Given the description of an element on the screen output the (x, y) to click on. 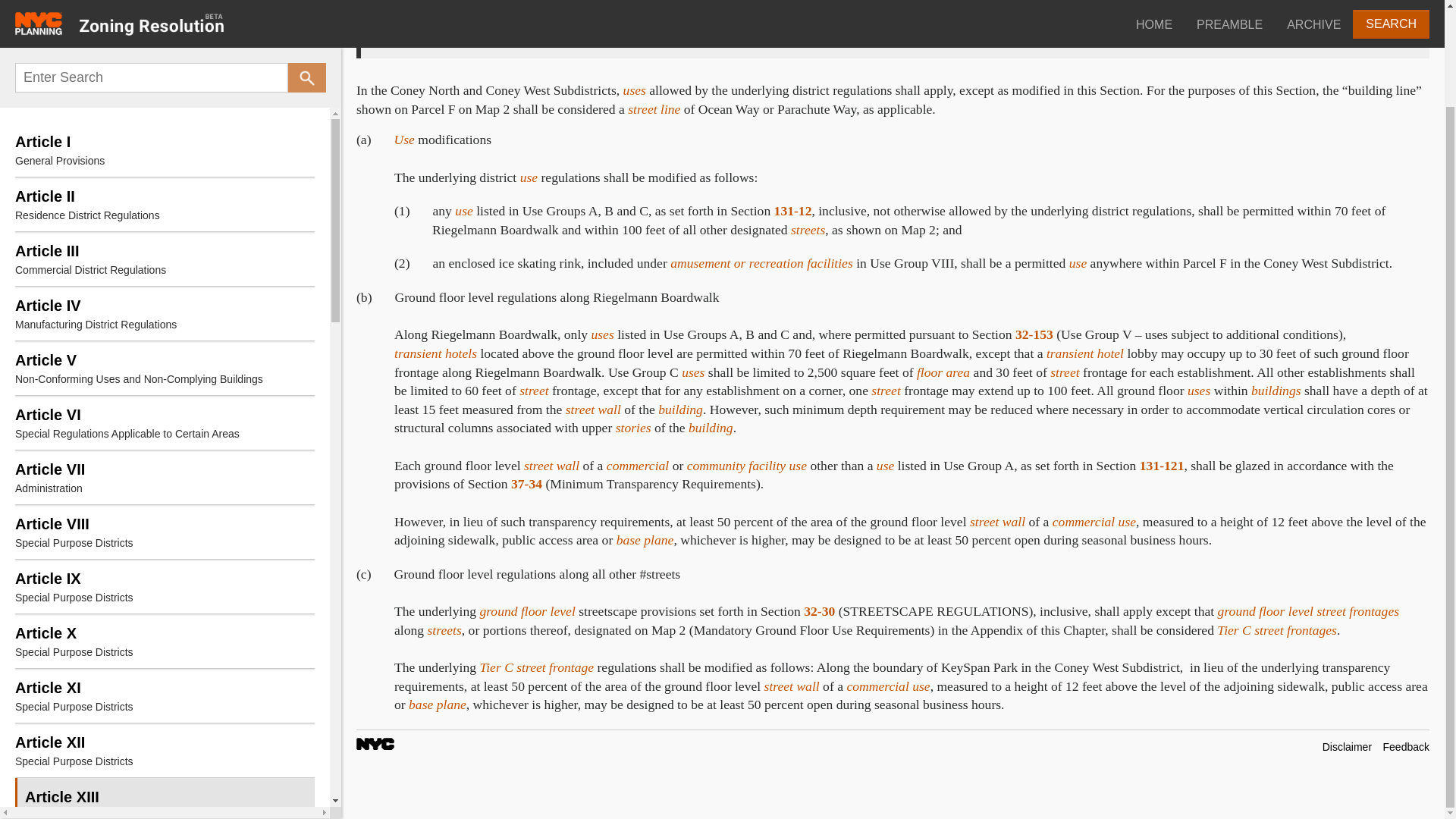
Amendment History (164, 311)
